Given the description of an element on the screen output the (x, y) to click on. 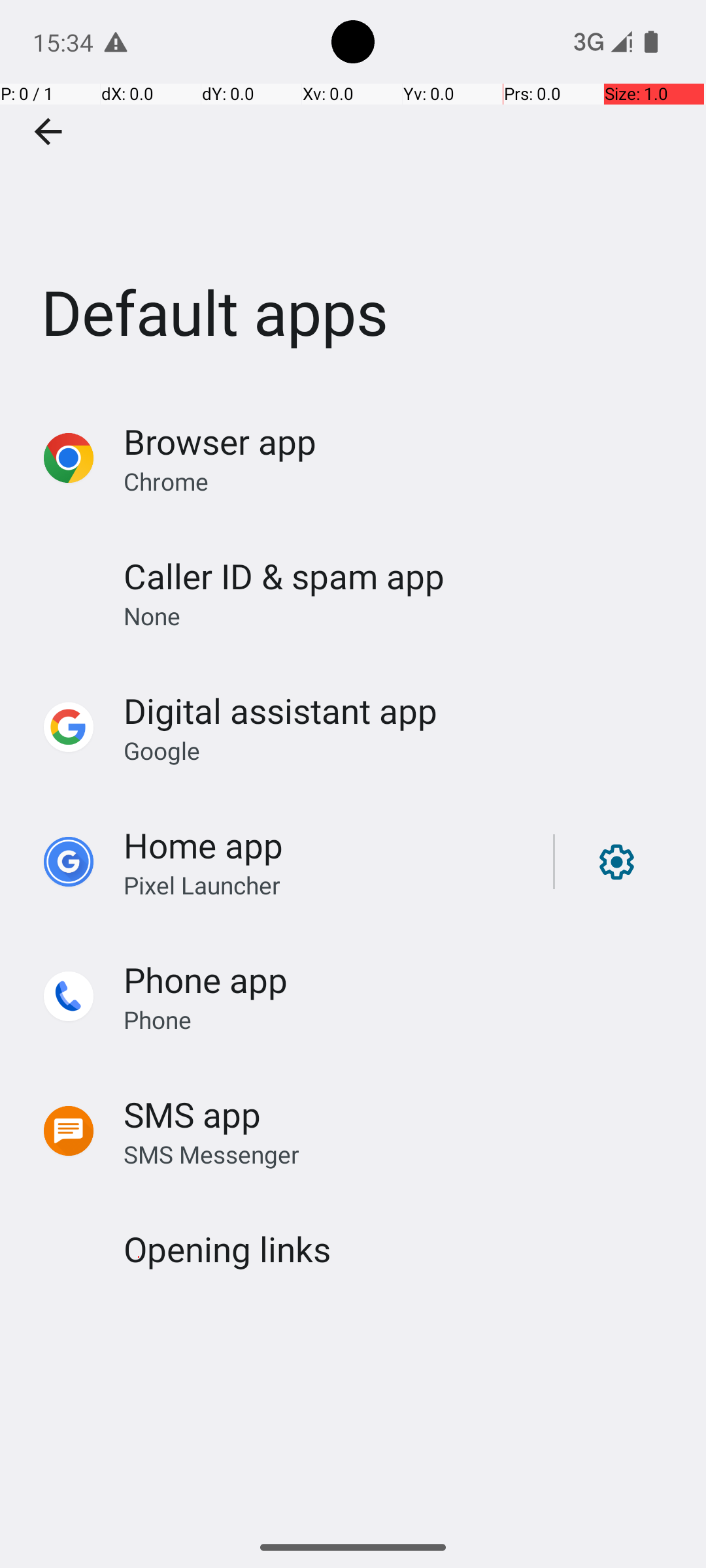
Default apps Element type: android.widget.FrameLayout (353, 195)
Browser app Element type: android.widget.TextView (220, 441)
Caller ID & spam app Element type: android.widget.TextView (283, 575)
Digital assistant app Element type: android.widget.TextView (280, 710)
Google Element type: android.widget.TextView (161, 750)
Home app Element type: android.widget.TextView (203, 844)
Pixel Launcher Element type: android.widget.TextView (201, 884)
Phone app Element type: android.widget.TextView (205, 979)
SMS app Element type: android.widget.TextView (191, 1114)
Opening links Element type: android.widget.TextView (226, 1248)
